Given the description of an element on the screen output the (x, y) to click on. 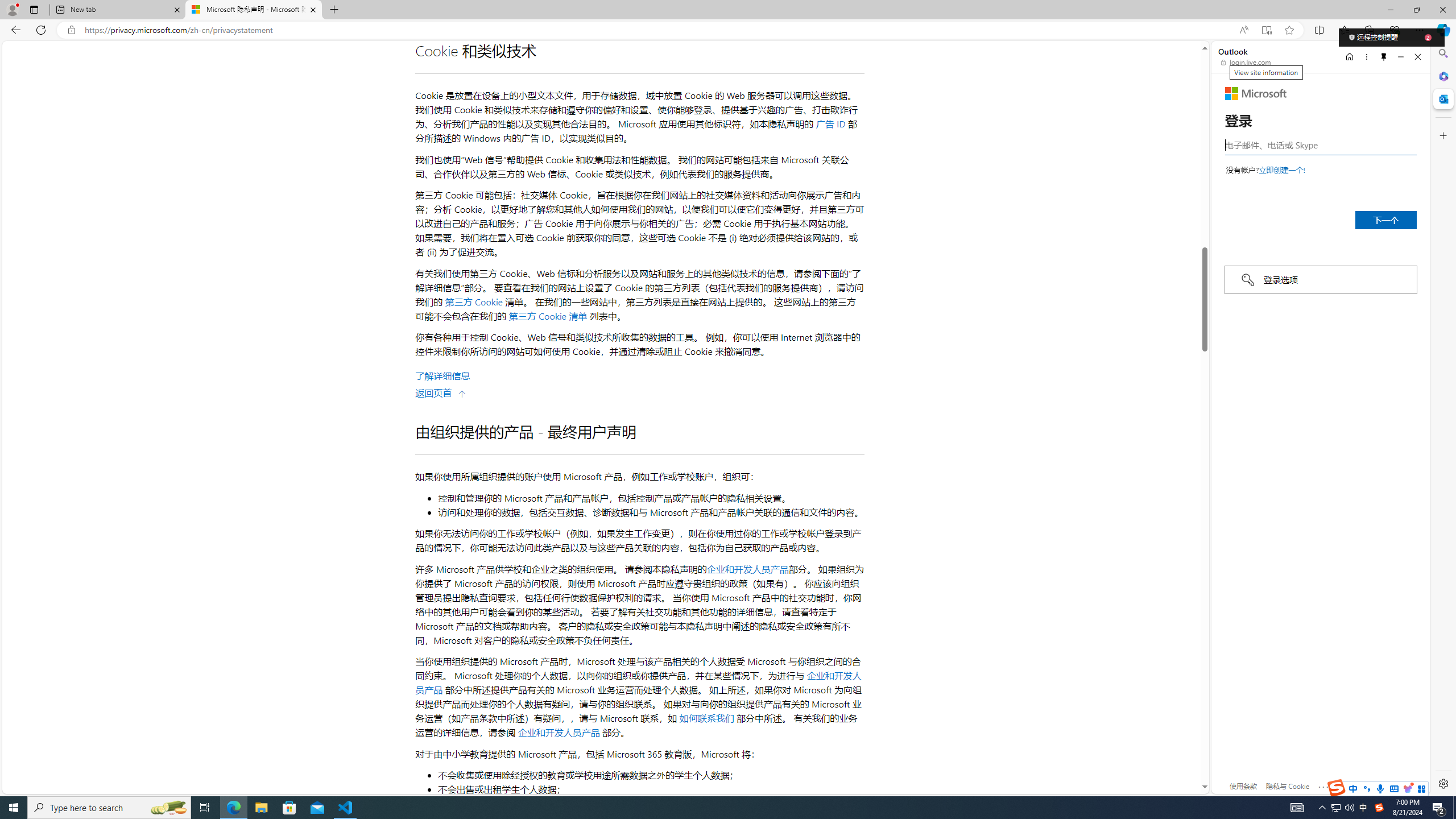
More options (1366, 56)
Favorites (1344, 29)
Side bar (1443, 418)
Address and search bar (658, 29)
